Given the description of an element on the screen output the (x, y) to click on. 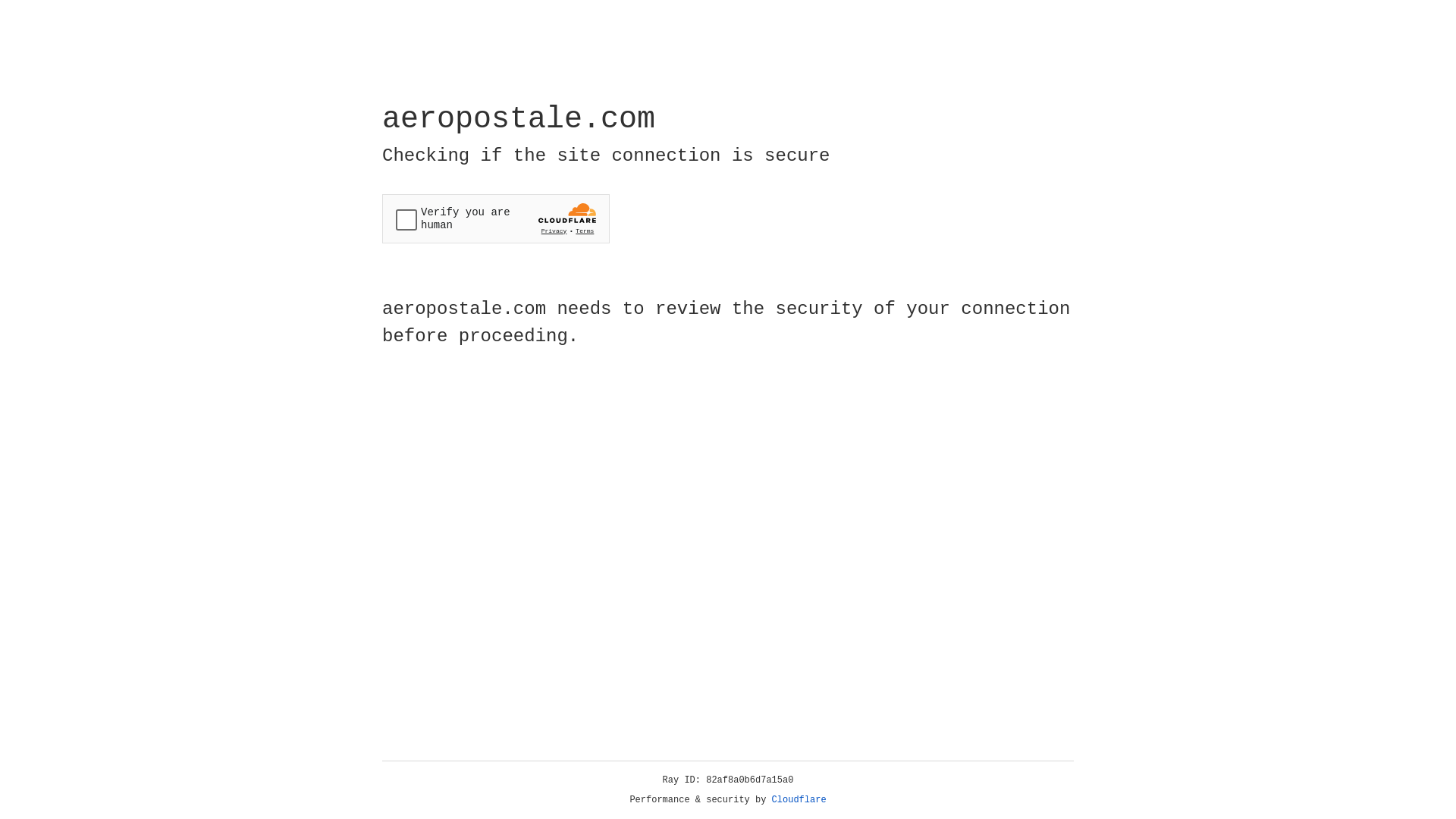
Cloudflare Element type: text (798, 799)
Widget containing a Cloudflare security challenge Element type: hover (495, 218)
